Given the description of an element on the screen output the (x, y) to click on. 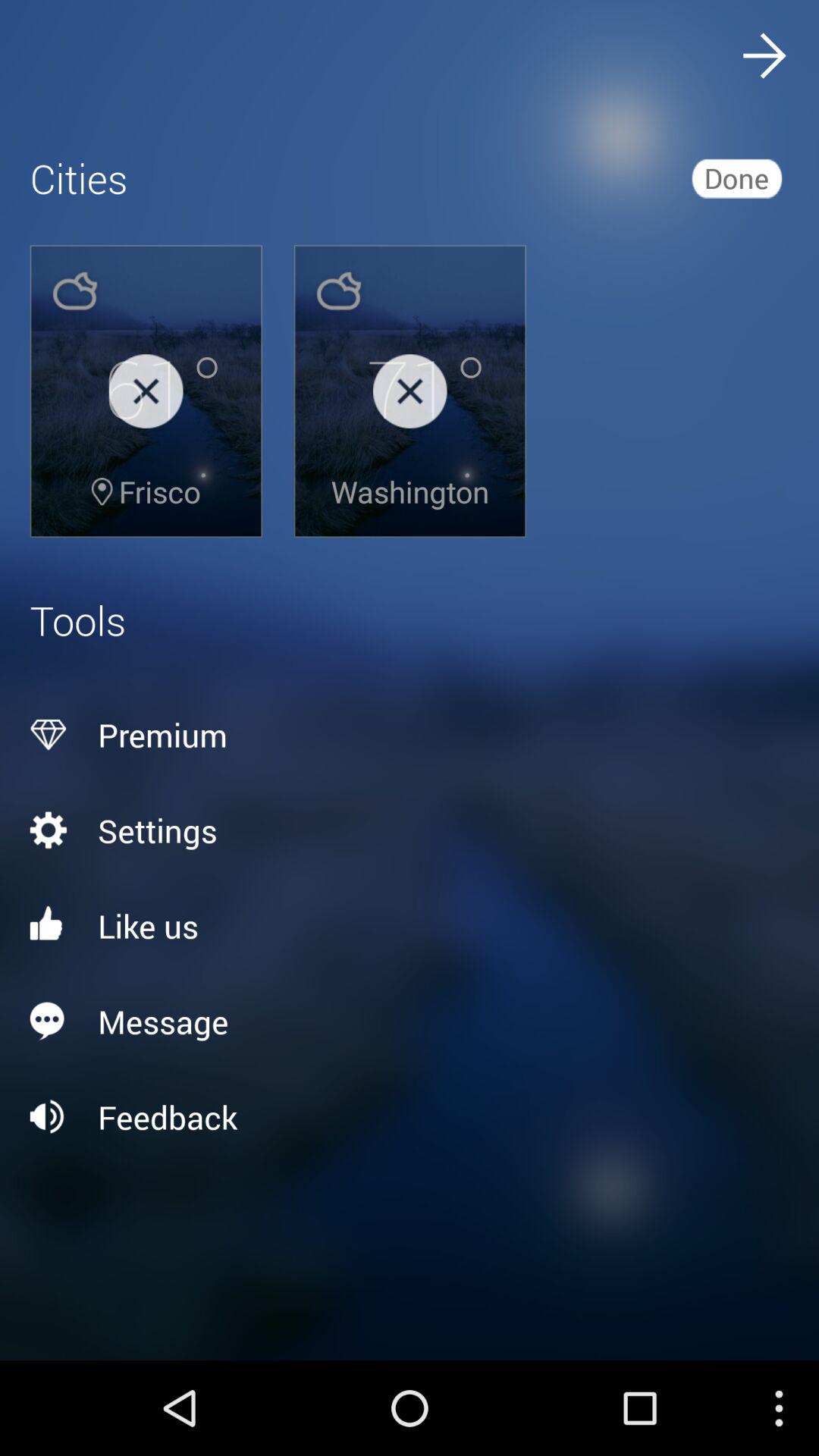
open icon above the feedback (409, 1021)
